Given the description of an element on the screen output the (x, y) to click on. 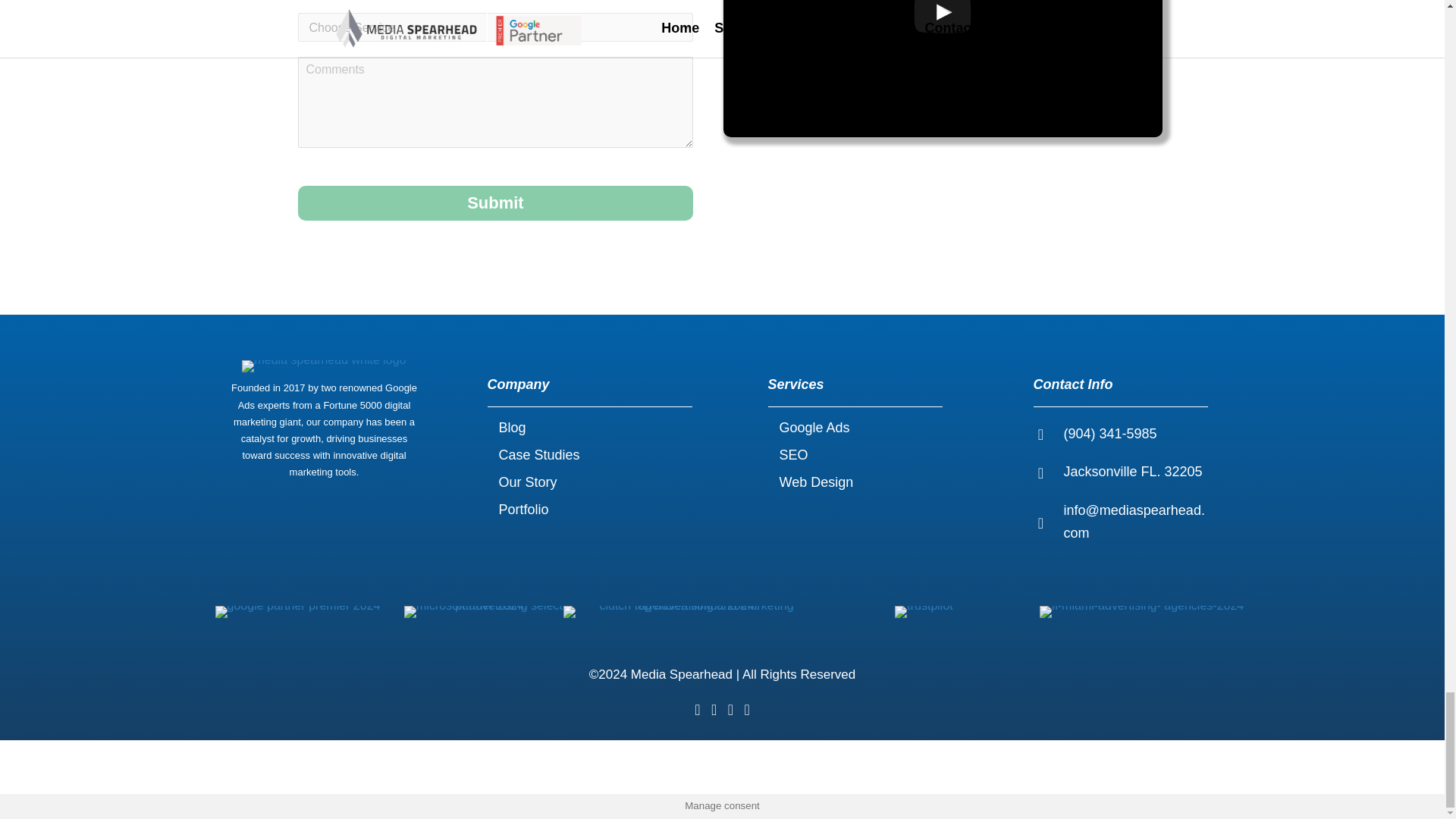
Google Ads (855, 428)
Blog (590, 428)
Case Studies (590, 455)
google partner premier 2024 (297, 612)
microsoft advertising select partner 2024 (482, 612)
SEO (855, 455)
Our Story (590, 482)
logo-mshfooter (323, 366)
Web Design (855, 482)
Submit (495, 202)
Portfolio (590, 510)
